Given the description of an element on the screen output the (x, y) to click on. 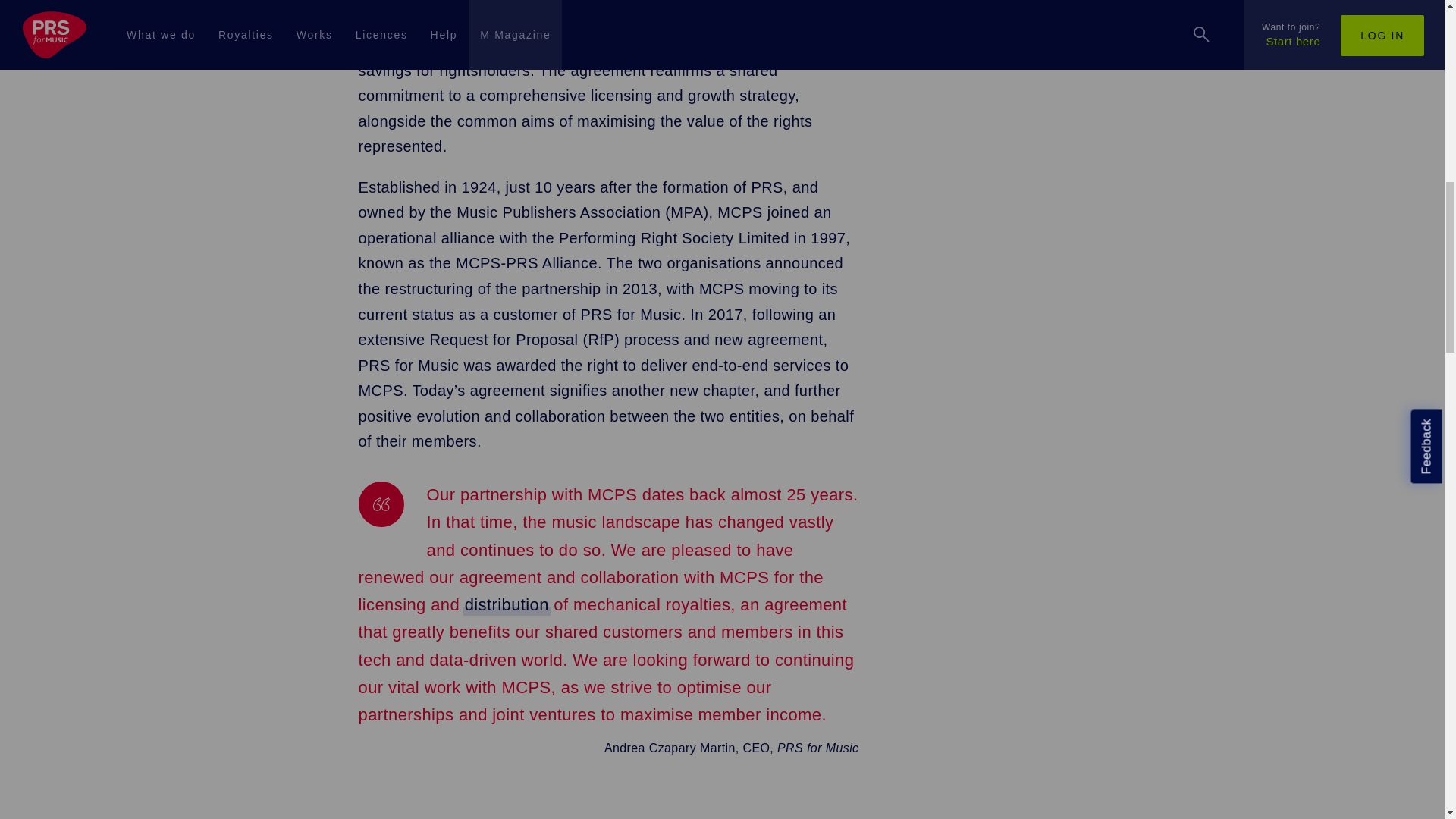
What does this mean ?  (506, 604)
